Given the description of an element on the screen output the (x, y) to click on. 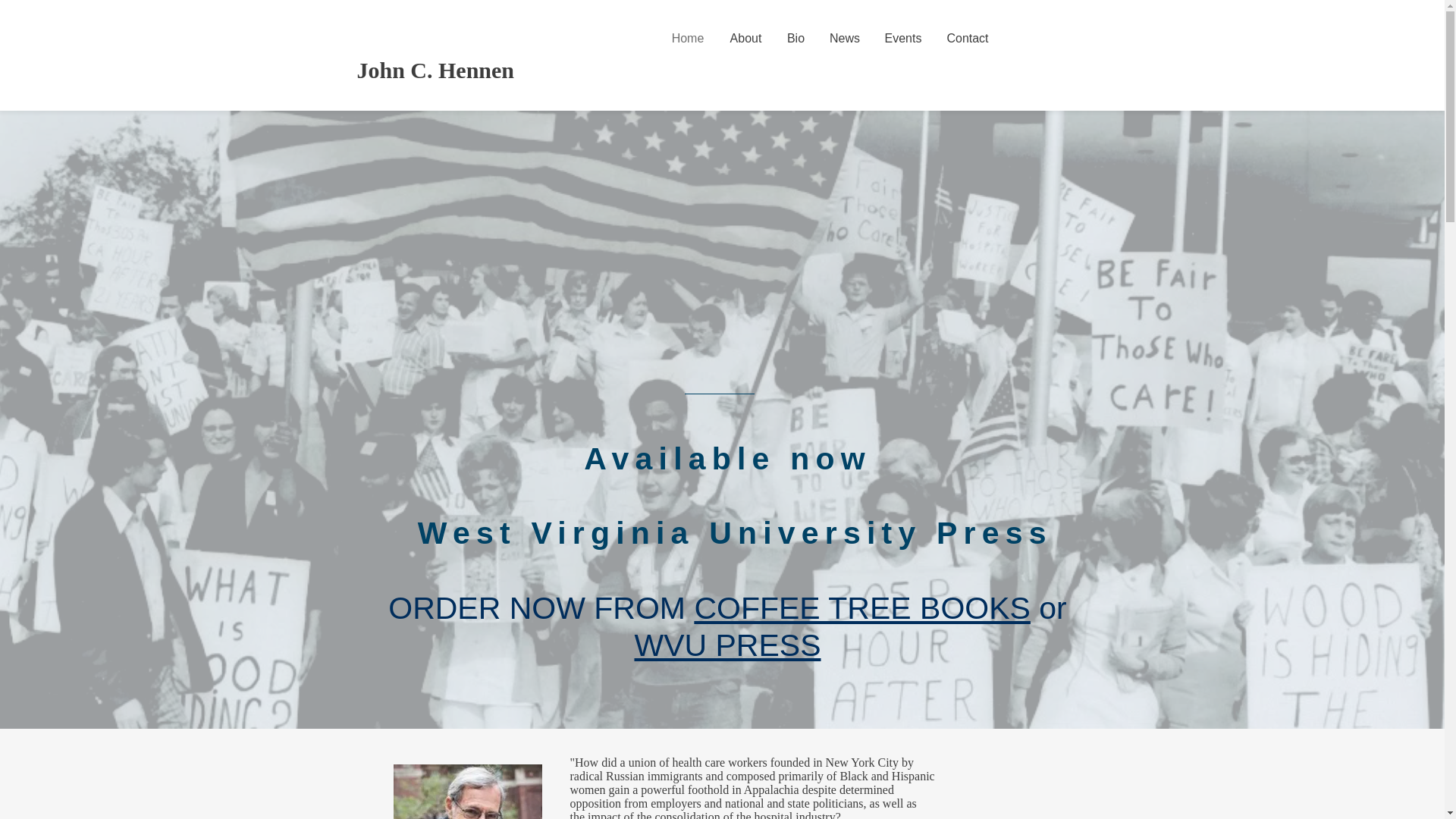
WVU PRESS (727, 645)
Home (687, 38)
About (745, 38)
John C. Hennen (434, 69)
COFFEE TREE BOOKS (862, 607)
Bio (795, 38)
Events (902, 38)
News (844, 38)
Contact (967, 38)
